Given the description of an element on the screen output the (x, y) to click on. 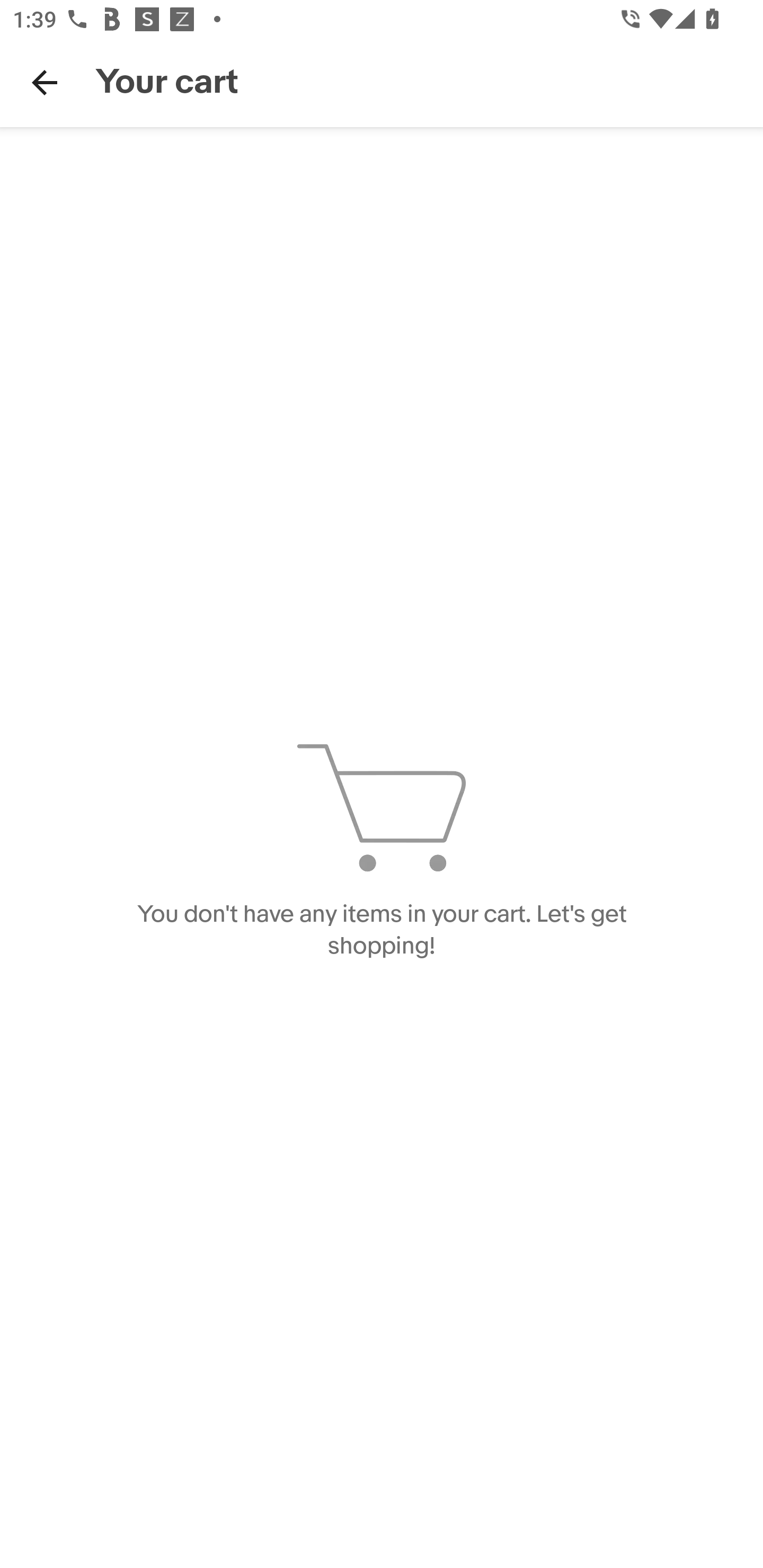
Navigate up (44, 82)
